Given the description of an element on the screen output the (x, y) to click on. 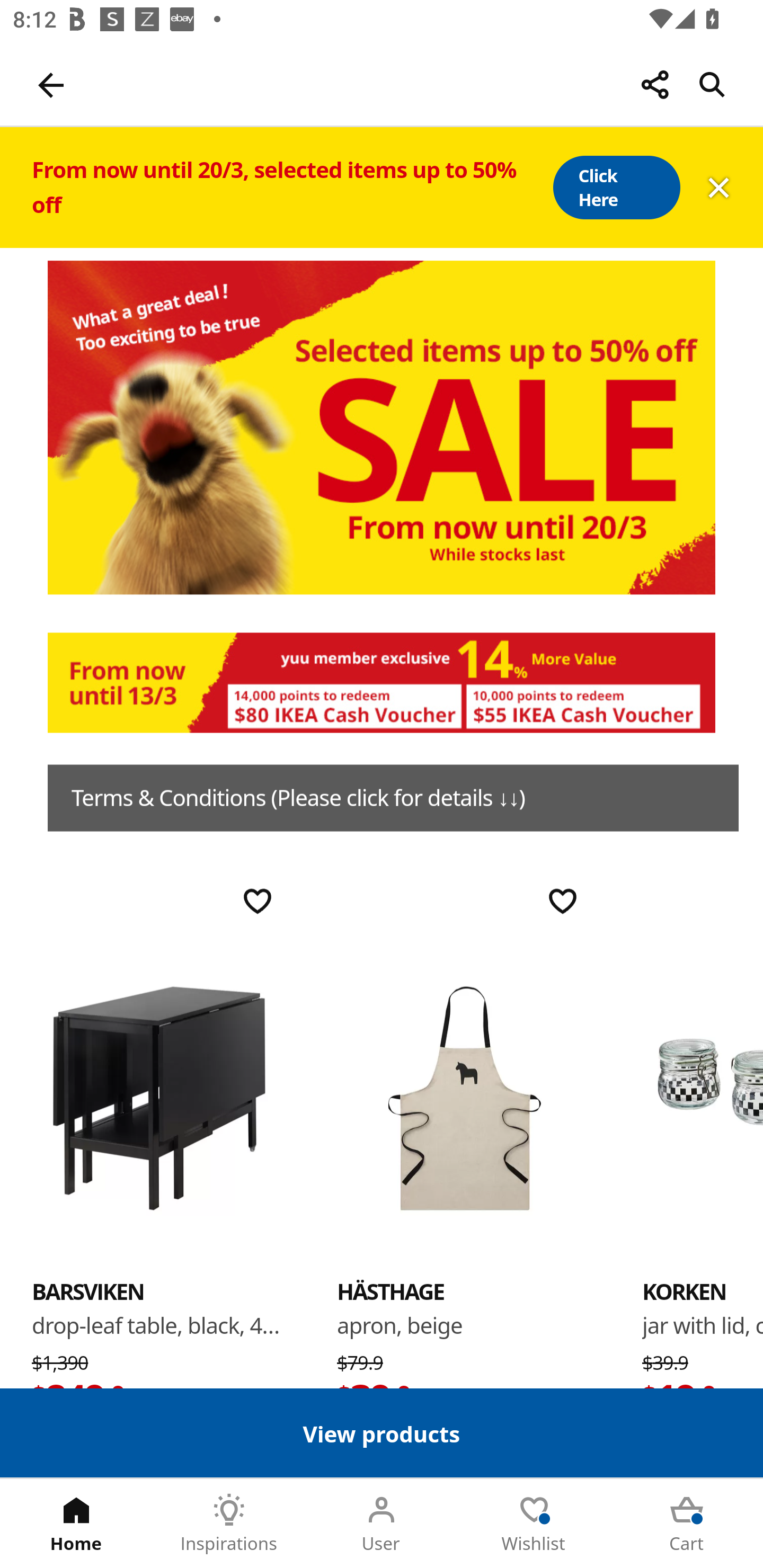
Click Here (615, 187)
Terms & Conditions (Please click for details ↓↓) (393, 798)
BARSVIKEN (159, 1096)
HÄSTHAGE (464, 1096)
KORKEN (702, 1096)
BARSVIKEN (88, 1290)
HÄSTHAGE (390, 1290)
KORKEN (684, 1290)
View products (381, 1432)
Home
Tab 1 of 5 (76, 1522)
Inspirations
Tab 2 of 5 (228, 1522)
User
Tab 3 of 5 (381, 1522)
Wishlist
Tab 4 of 5 (533, 1522)
Cart
Tab 5 of 5 (686, 1522)
